Given the description of an element on the screen output the (x, y) to click on. 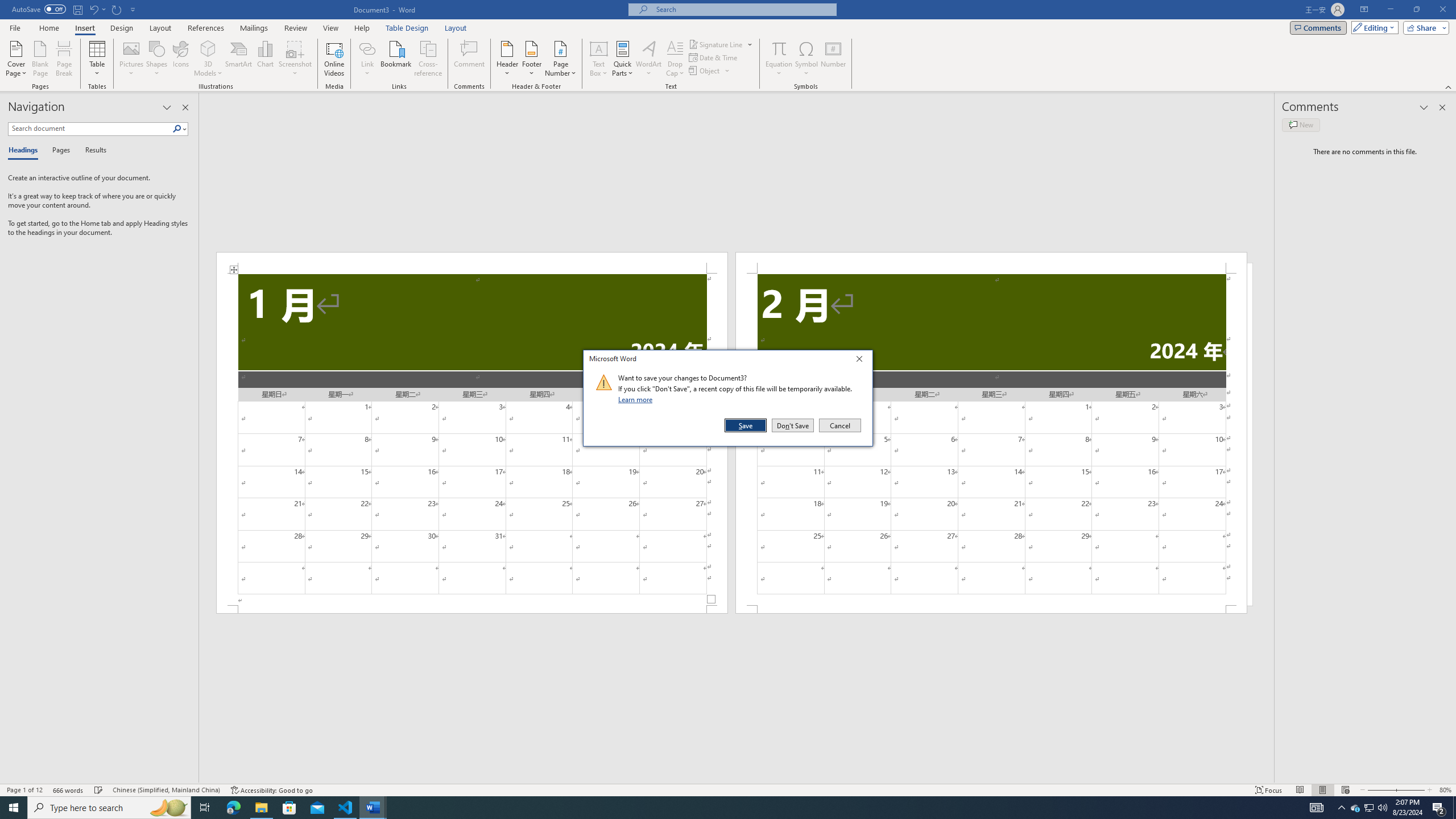
Undo Increase Indent (92, 9)
Class: NetUIScrollBar (736, 778)
Class: MsoCommandBar (728, 789)
Type here to search (108, 807)
Screenshot (295, 58)
SmartArt... (238, 58)
